Given the description of an element on the screen output the (x, y) to click on. 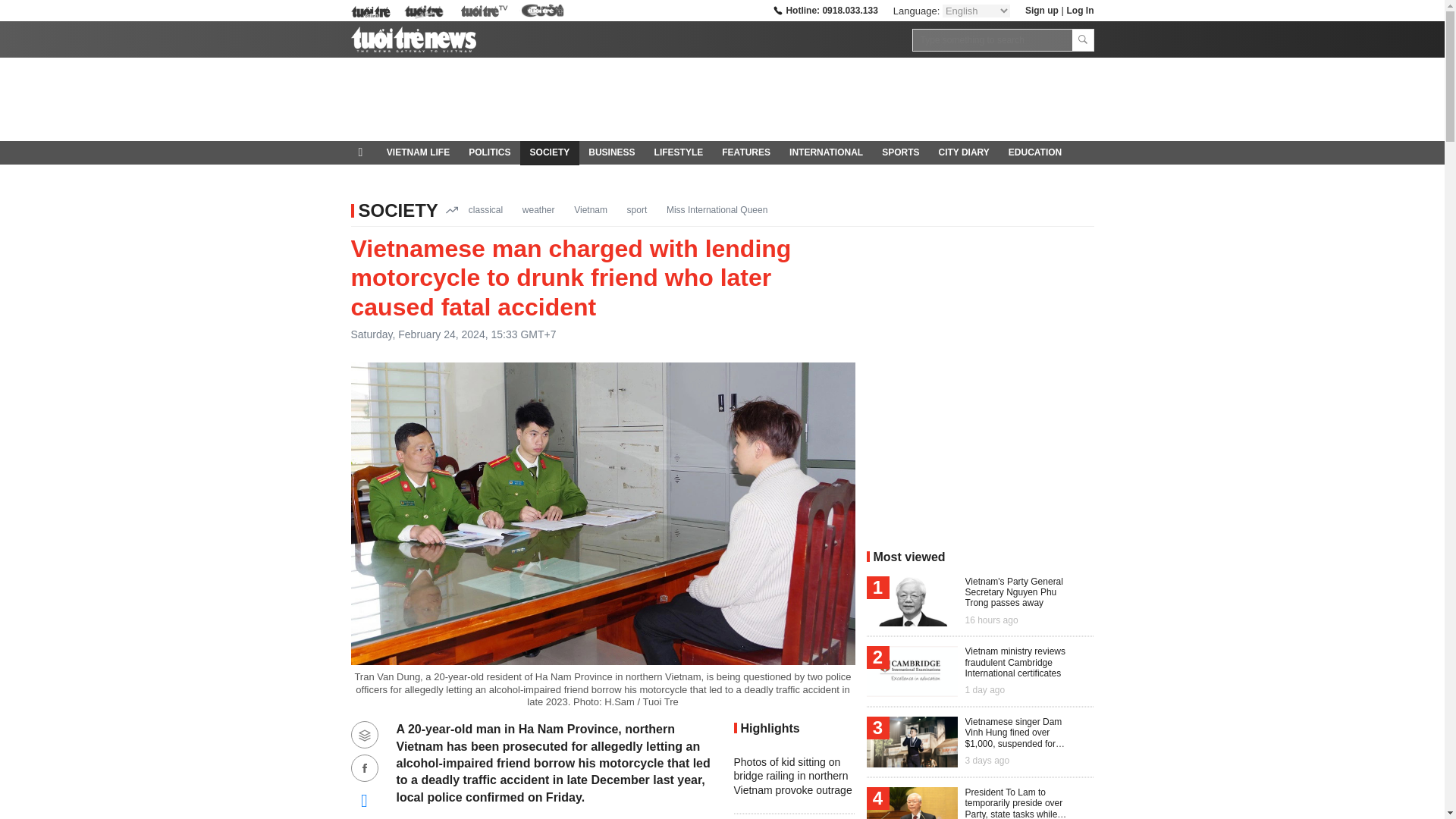
Hot Line (824, 9)
sport (637, 209)
Business (612, 152)
home (363, 152)
FEATURES (746, 152)
classical (485, 209)
Sports (900, 152)
International (826, 152)
MEDIA (374, 177)
Log In (1079, 9)
Society (549, 152)
SPORTS (900, 152)
EDUCATION (1034, 152)
CITY DIARY (963, 152)
SOCIETY (398, 209)
